Given the description of an element on the screen output the (x, y) to click on. 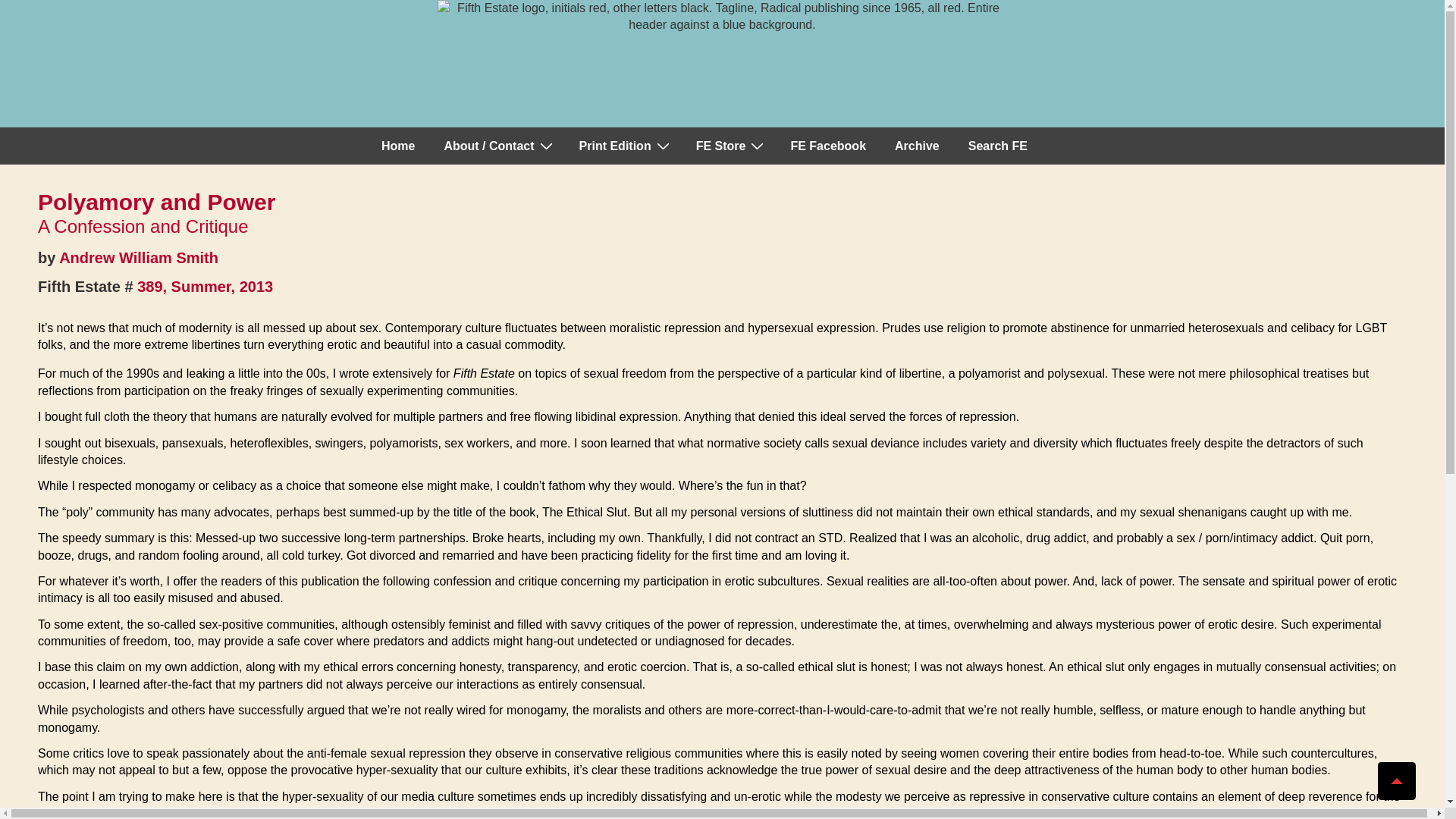
389, Summer, 2013 (204, 286)
FE Store (729, 145)
Search FE (998, 145)
Scroll to Top (1396, 781)
Archive (916, 145)
Andrew William Smith (138, 257)
Print Edition (623, 145)
FE Facebook (827, 145)
Top (1396, 781)
Home (398, 145)
Recordings (729, 145)
